Given the description of an element on the screen output the (x, y) to click on. 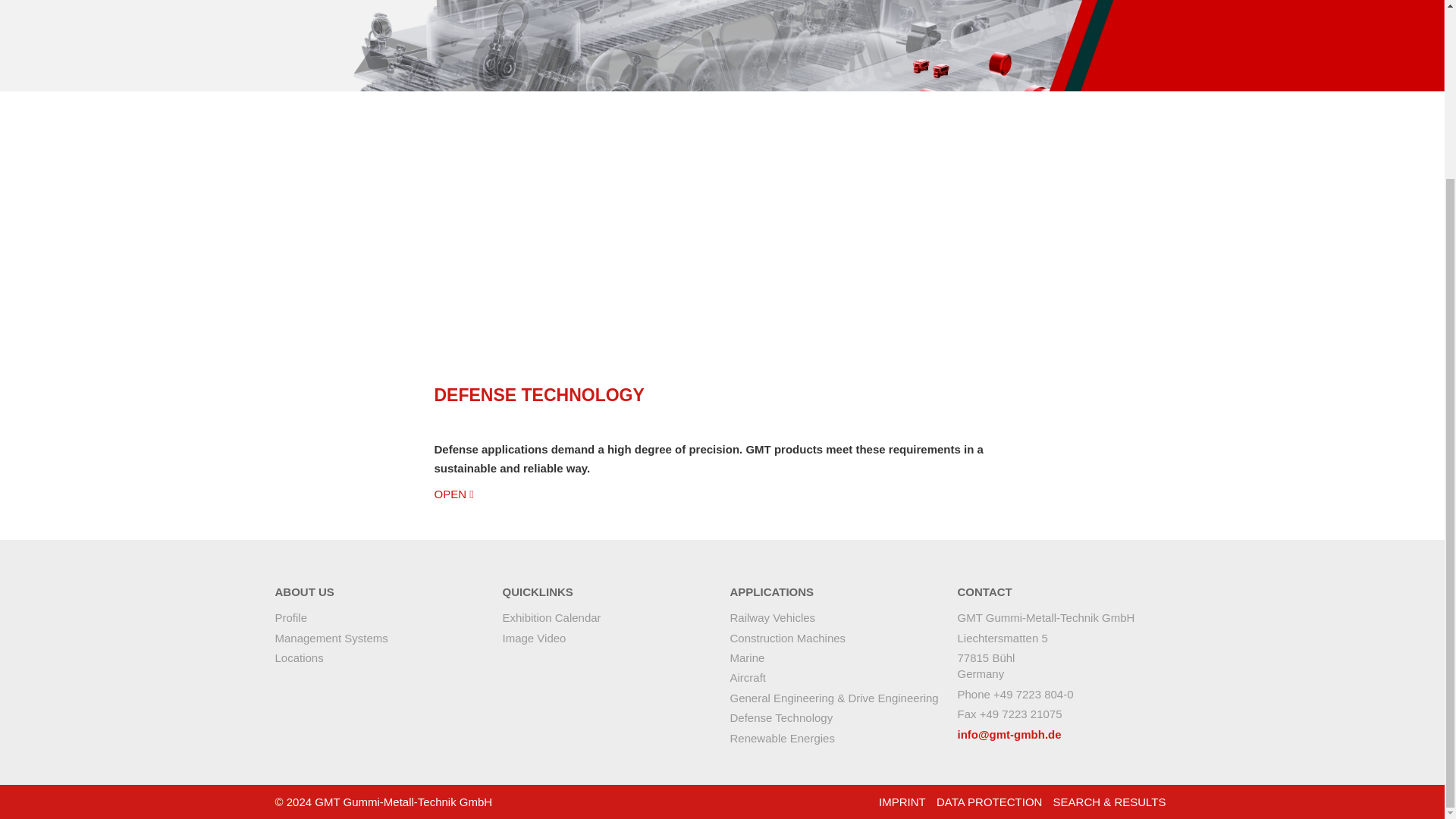
Renewable Energies (781, 738)
Railway Vehicles (772, 617)
Image Video (534, 638)
OPEN (453, 493)
Management Systems (331, 638)
Locations (299, 658)
Marine (746, 658)
Construction Machines (787, 638)
Aircraft (747, 677)
Defense Technology (780, 717)
Exhibition Calendar (550, 617)
Profile (291, 617)
